Given the description of an element on the screen output the (x, y) to click on. 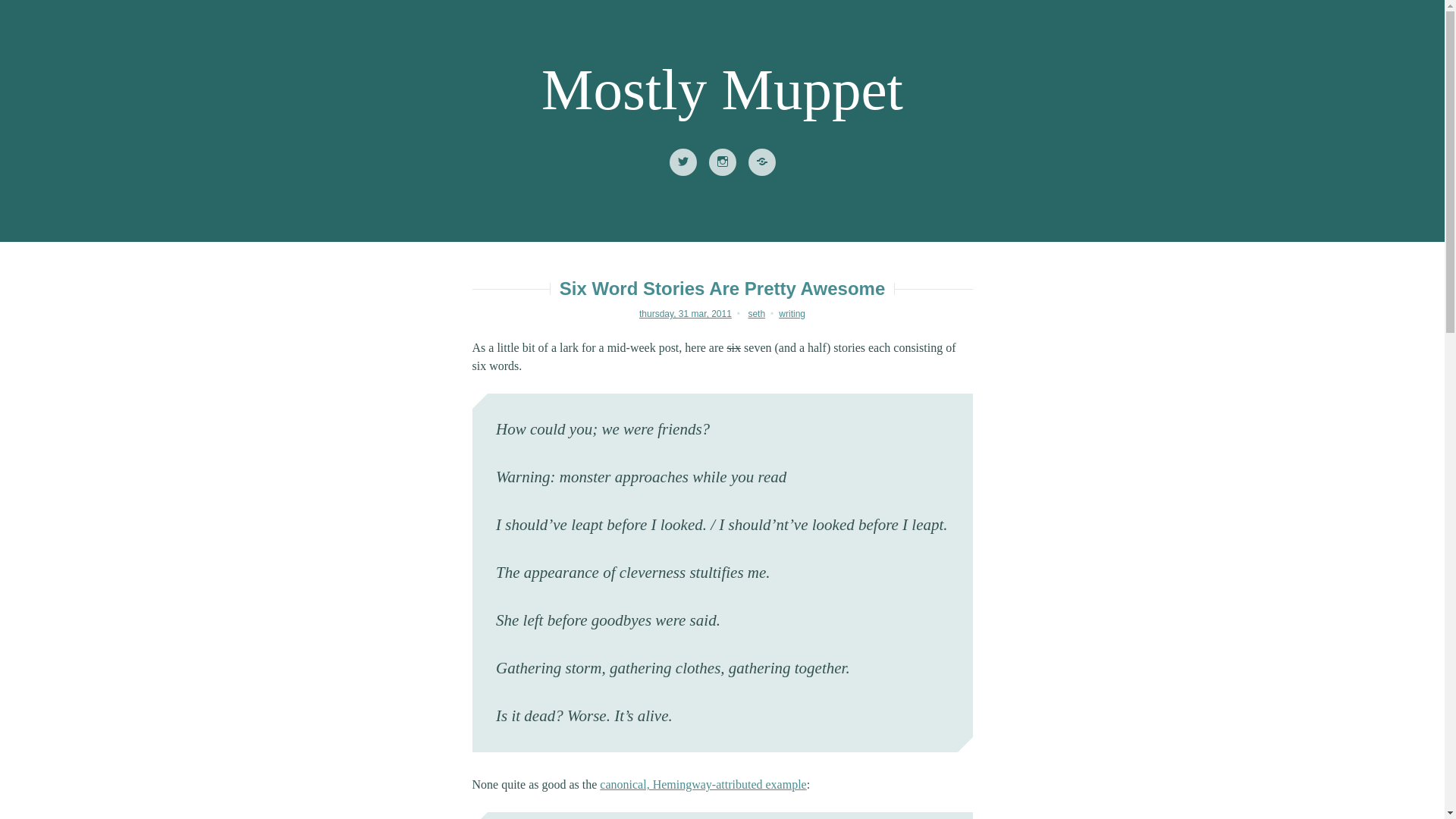
Mostly Muppet (721, 89)
seth (756, 313)
writing (791, 313)
thursday, 31 mar, 2011 (685, 313)
canonical, Hemingway-attributed example (702, 784)
About Me (760, 162)
Twitter (681, 162)
Instagram (721, 162)
